Given the description of an element on the screen output the (x, y) to click on. 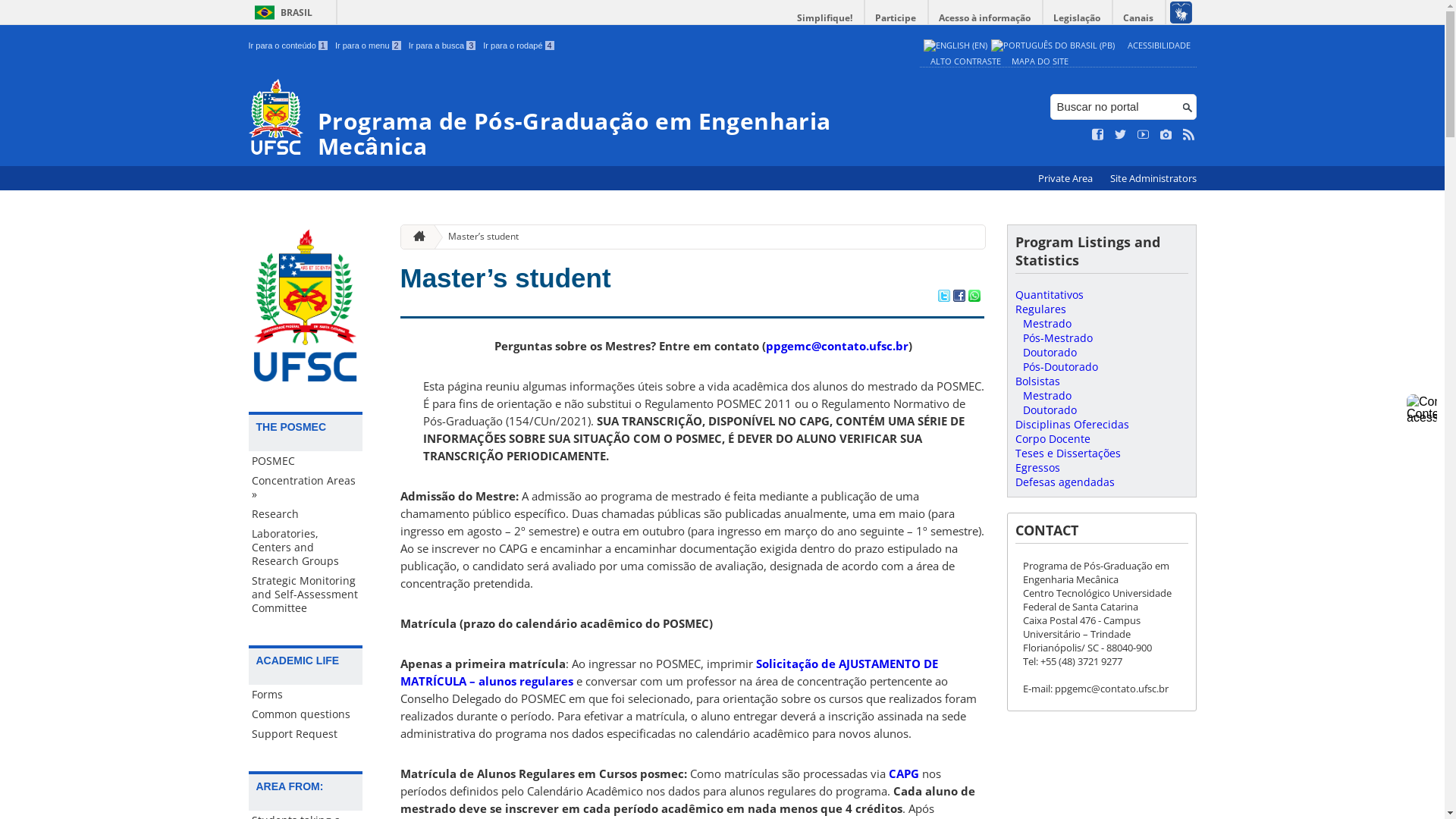
Support Request Element type: text (305, 733)
Corpo Docente Element type: text (1051, 438)
Egressos Element type: text (1036, 467)
Simplifique! Element type: text (825, 18)
Curta no Facebook Element type: hover (1098, 134)
Compartilhar no Facebook Element type: hover (958, 296)
Common questions Element type: text (305, 714)
ppgemc@contato.ufsc.br Element type: text (836, 345)
CAPG Element type: text (903, 773)
Siga no Twitter Element type: hover (1120, 134)
Disciplinas Oferecidas Element type: text (1071, 424)
MAPA DO SITE Element type: text (1039, 60)
Ir para a busca 3 Element type: text (442, 45)
Doutorado Element type: text (1049, 352)
Doutorado Element type: text (1049, 409)
Mestrado Element type: text (1046, 395)
Participe Element type: text (895, 18)
Private Area Element type: text (1065, 178)
Ir para o menu 2 Element type: text (368, 45)
Strategic Monitoring and Self-Assessment Committee Element type: text (305, 594)
Site Administrators Element type: text (1153, 178)
Compartilhar no WhatsApp Element type: hover (973, 296)
Forms Element type: text (305, 694)
Research Element type: text (305, 514)
Compartilhar no Twitter Element type: hover (943, 296)
English (en) Element type: hover (955, 44)
Bolsistas Element type: text (1036, 380)
Quantitativos Element type: text (1048, 294)
Veja no Instagram Element type: hover (1166, 134)
Regulares Element type: text (1039, 308)
BRASIL Element type: text (280, 12)
Laboratories, Centers and Research Groups Element type: text (305, 547)
ACESSIBILIDADE Element type: text (1158, 44)
Defesas agendadas Element type: text (1063, 481)
POSMEC Element type: text (305, 460)
Canais Element type: text (1138, 18)
ALTO CONTRASTE Element type: text (964, 60)
Mestrado Element type: text (1046, 323)
